Given the description of an element on the screen output the (x, y) to click on. 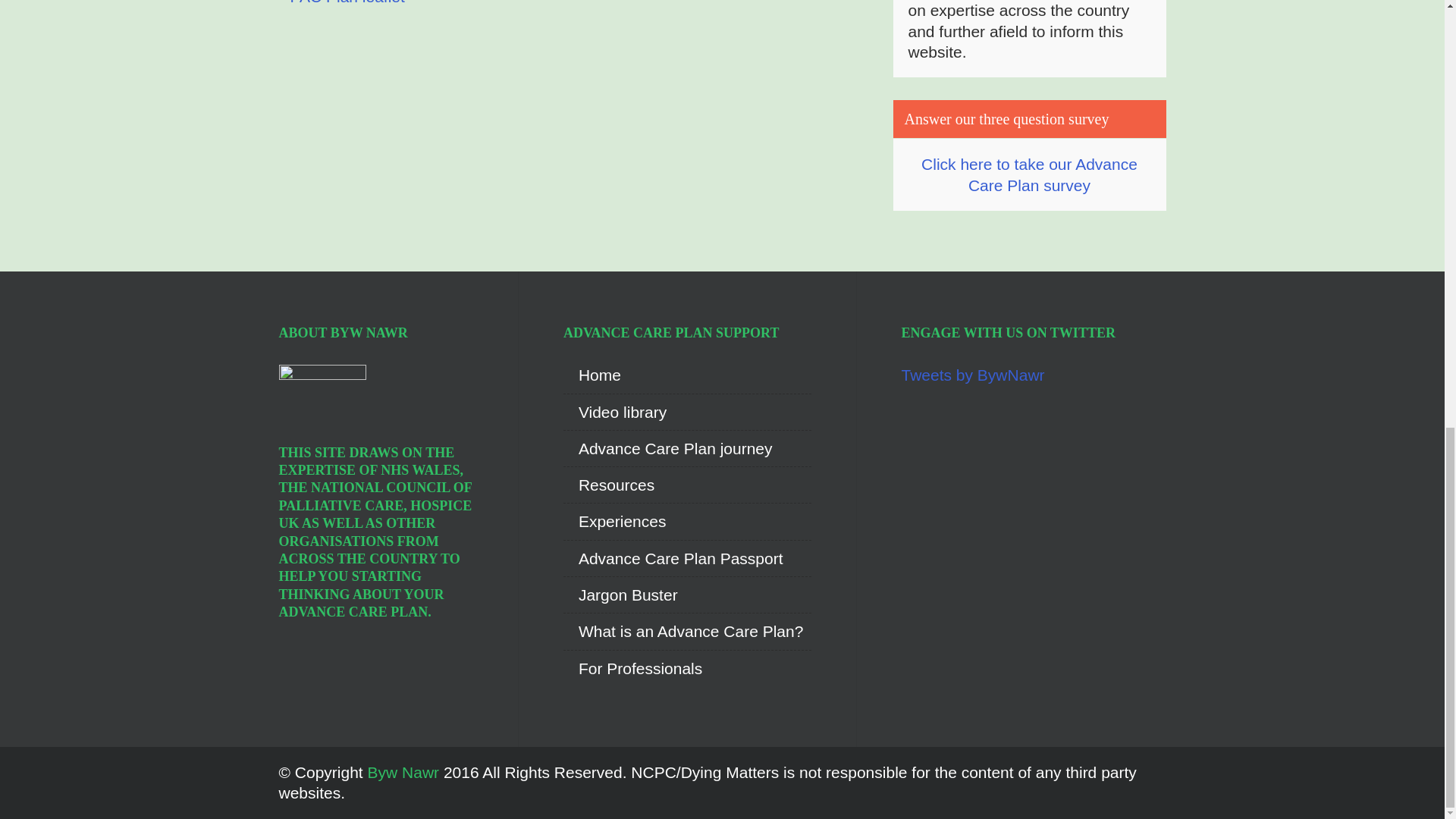
For Professionals (632, 668)
Advance Care Plan Passport (673, 557)
Advance Care Plan journey (668, 448)
Jargon Buster (620, 594)
Video library (614, 412)
Resources (608, 485)
Click here to take our Advance Care Plan survey (1029, 174)
Home (592, 374)
Experiences (614, 521)
What is an Advance Care Plan? (683, 630)
